Given the description of an element on the screen output the (x, y) to click on. 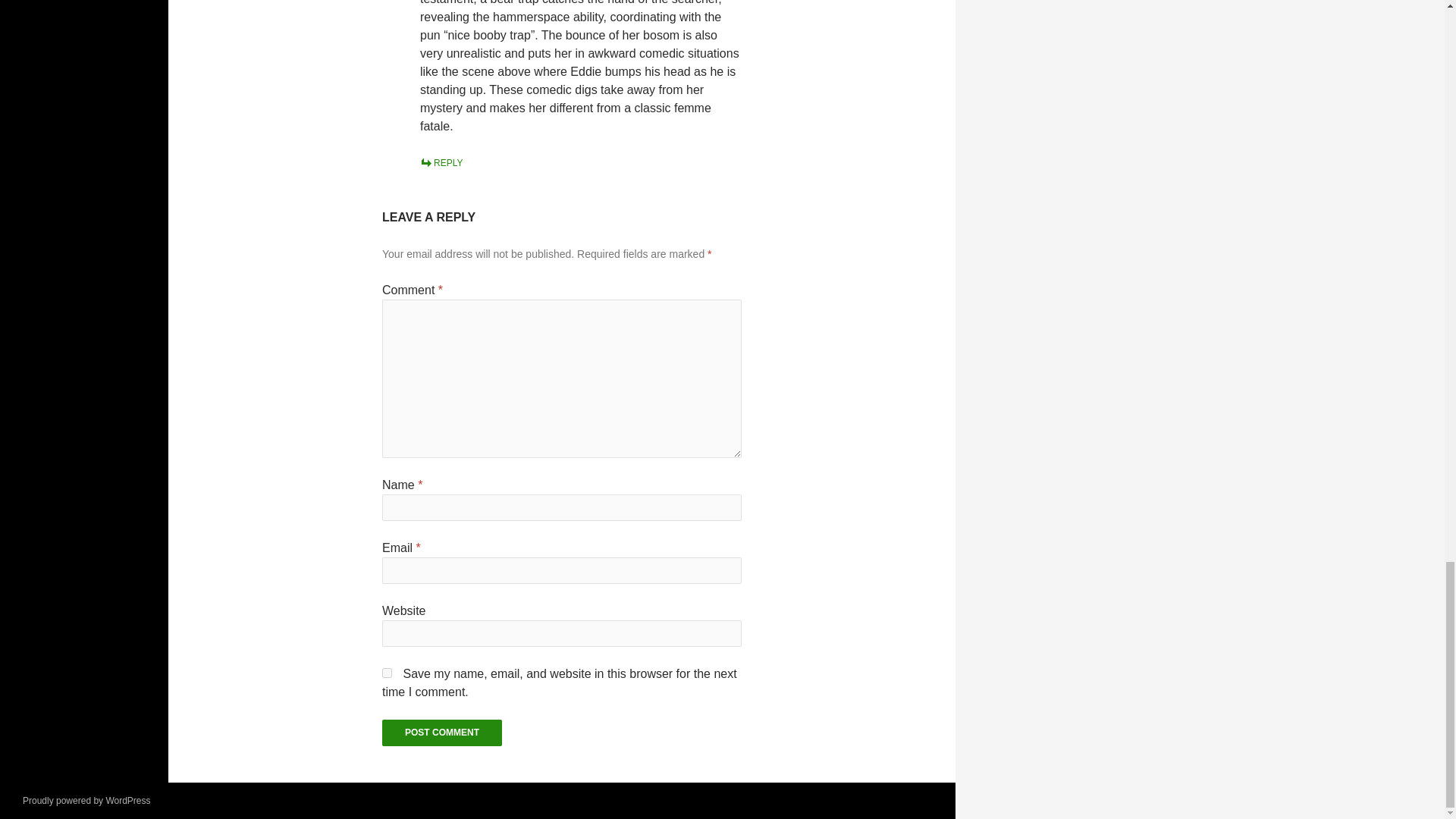
Post Comment (441, 732)
Post Comment (441, 732)
Proudly powered by WordPress (87, 800)
REPLY (441, 163)
yes (386, 673)
